Given the description of an element on the screen output the (x, y) to click on. 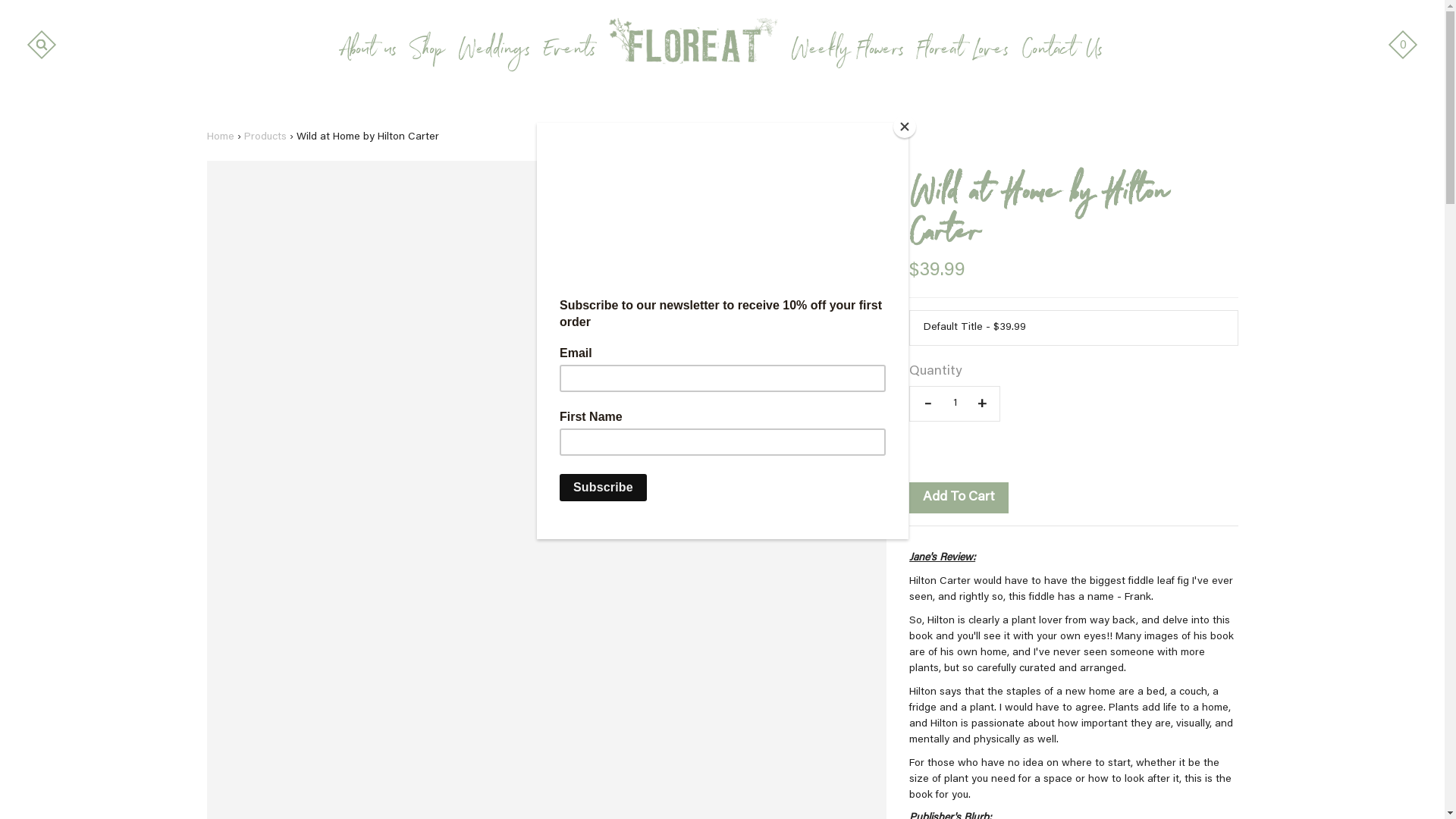
0 Element type: text (1402, 44)
Weekly Flowers Element type: text (847, 52)
Floreat Loves Element type: text (962, 52)
Add To Cart Element type: text (958, 498)
Products Element type: text (265, 136)
Shop Element type: text (427, 52)
Weddings Element type: text (493, 52)
Contact Us Element type: text (1062, 52)
About us Element type: text (369, 52)
Home Element type: text (219, 136)
Events Element type: text (569, 52)
